Given the description of an element on the screen output the (x, y) to click on. 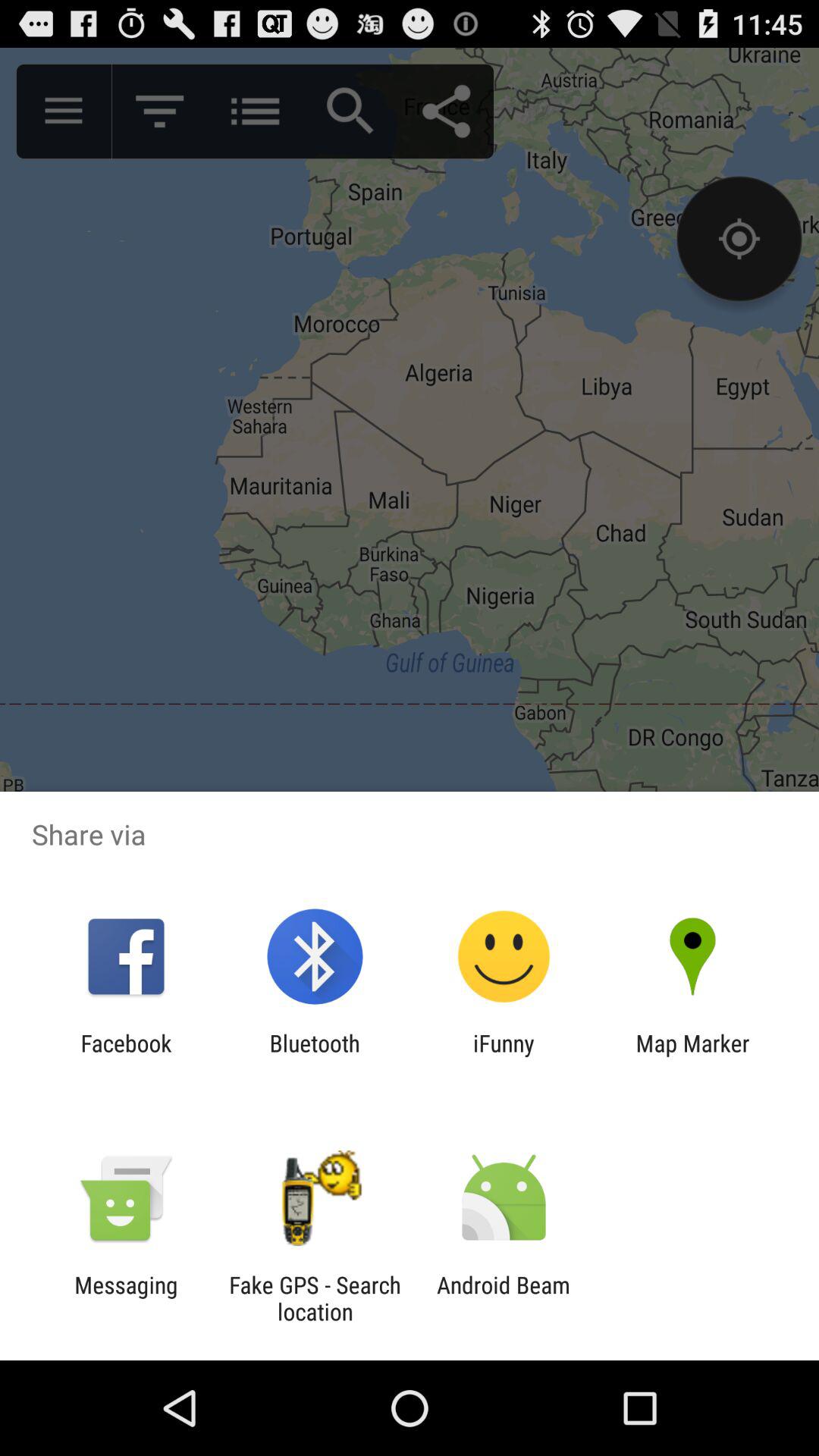
turn off app next to bluetooth (125, 1056)
